Given the description of an element on the screen output the (x, y) to click on. 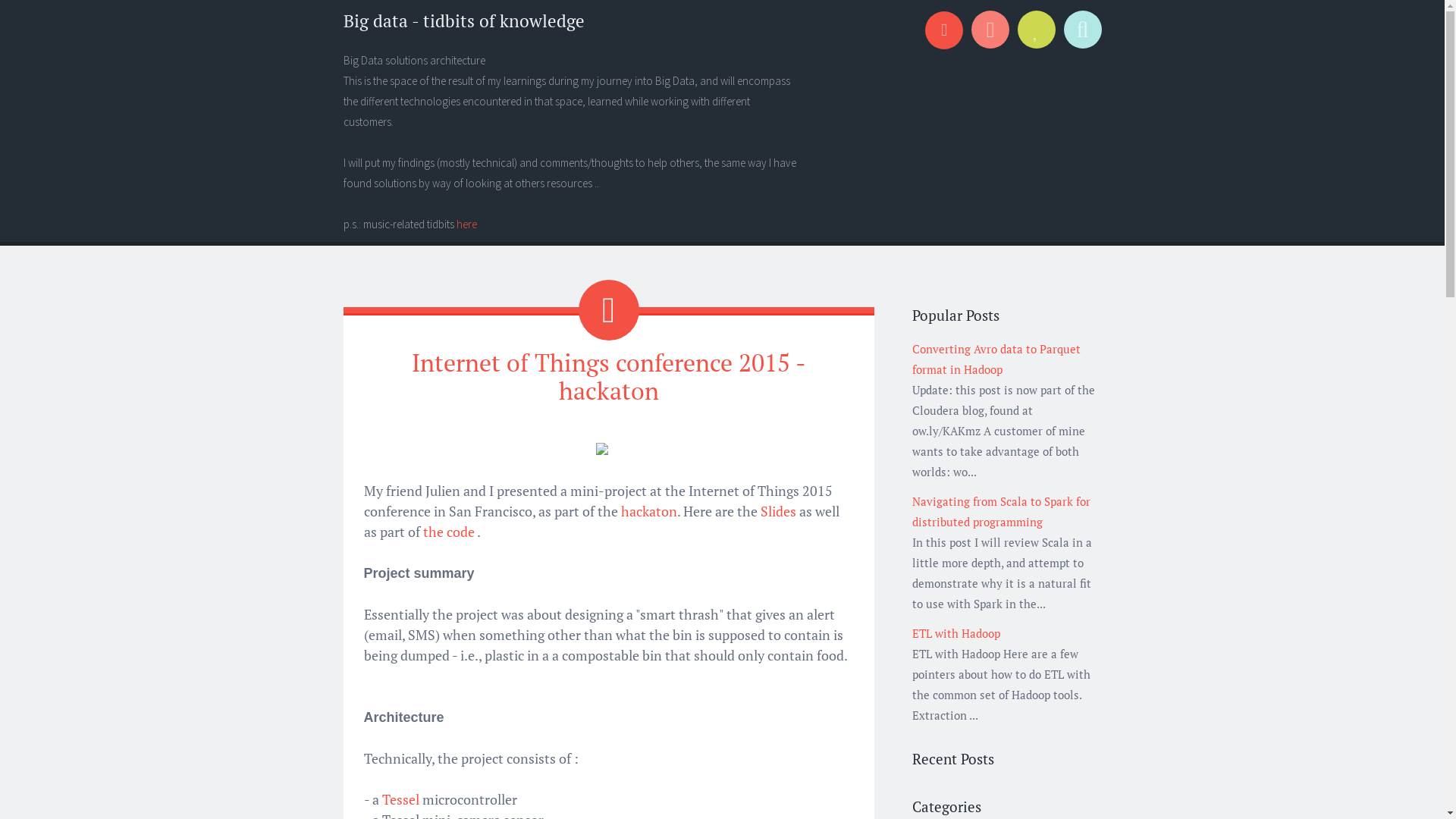
hackaton Element type: text (648, 511)
Navigating from Scala to Spark for distributed programming Element type: text (1000, 511)
Tessel Element type: text (400, 799)
ETL with Hadoop Element type: text (955, 632)
Big data - tidbits of knowledge Element type: text (462, 20)
Internet of Things conference 2015 - hackaton Element type: text (608, 376)
Converting Avro data to Parquet format in Hadoop Element type: text (995, 358)
here Element type: text (466, 223)
Slides Element type: text (777, 511)
the code Element type: text (448, 531)
